Given the description of an element on the screen output the (x, y) to click on. 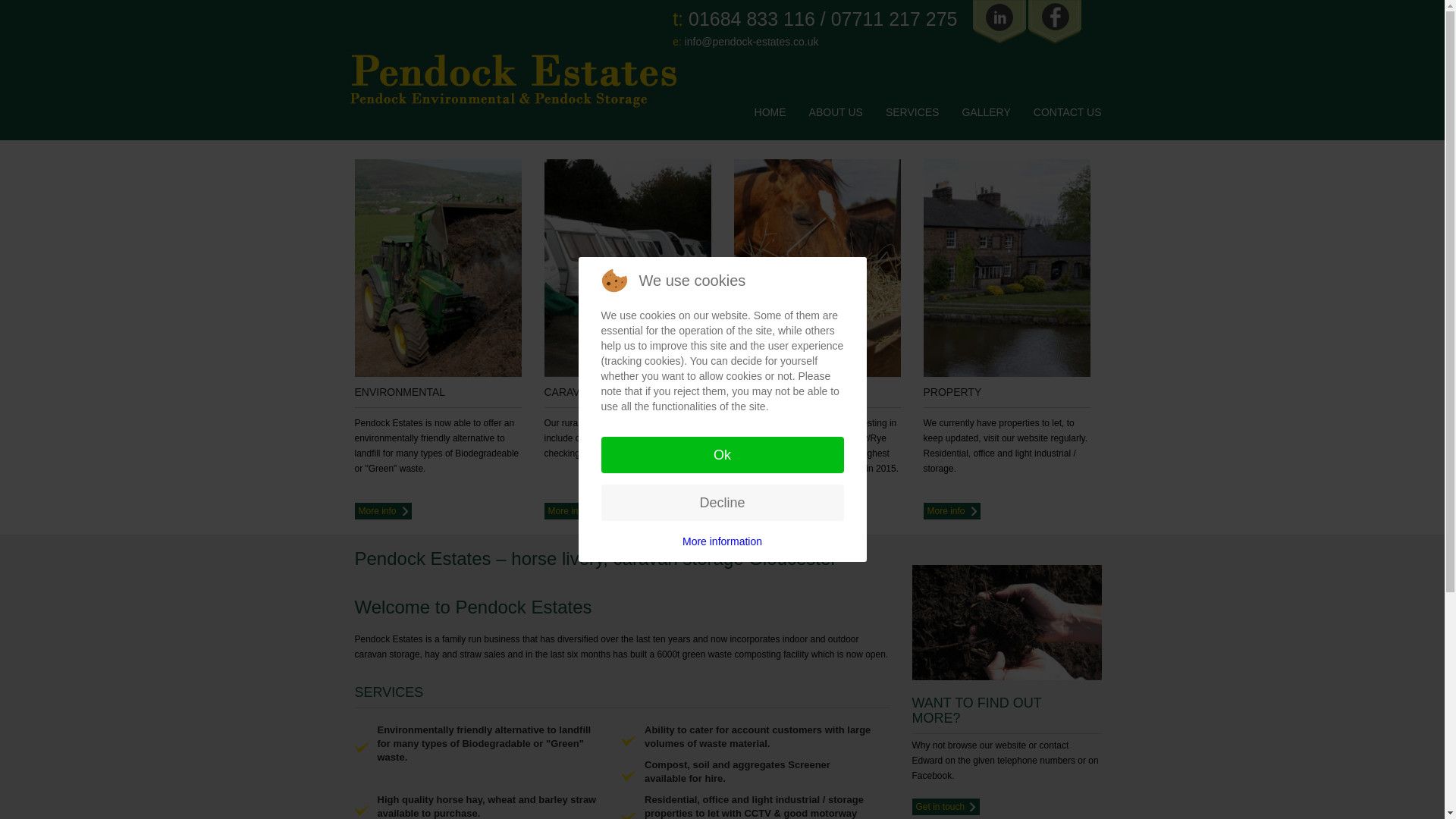
HOME (770, 111)
Decline (721, 502)
Ok (721, 454)
ABOUT US (836, 111)
More info (951, 510)
More info (572, 510)
GALLERY (985, 111)
Get in touch (945, 805)
CONTACT US (1067, 111)
More information (721, 540)
More info (761, 510)
More info (383, 510)
